Given the description of an element on the screen output the (x, y) to click on. 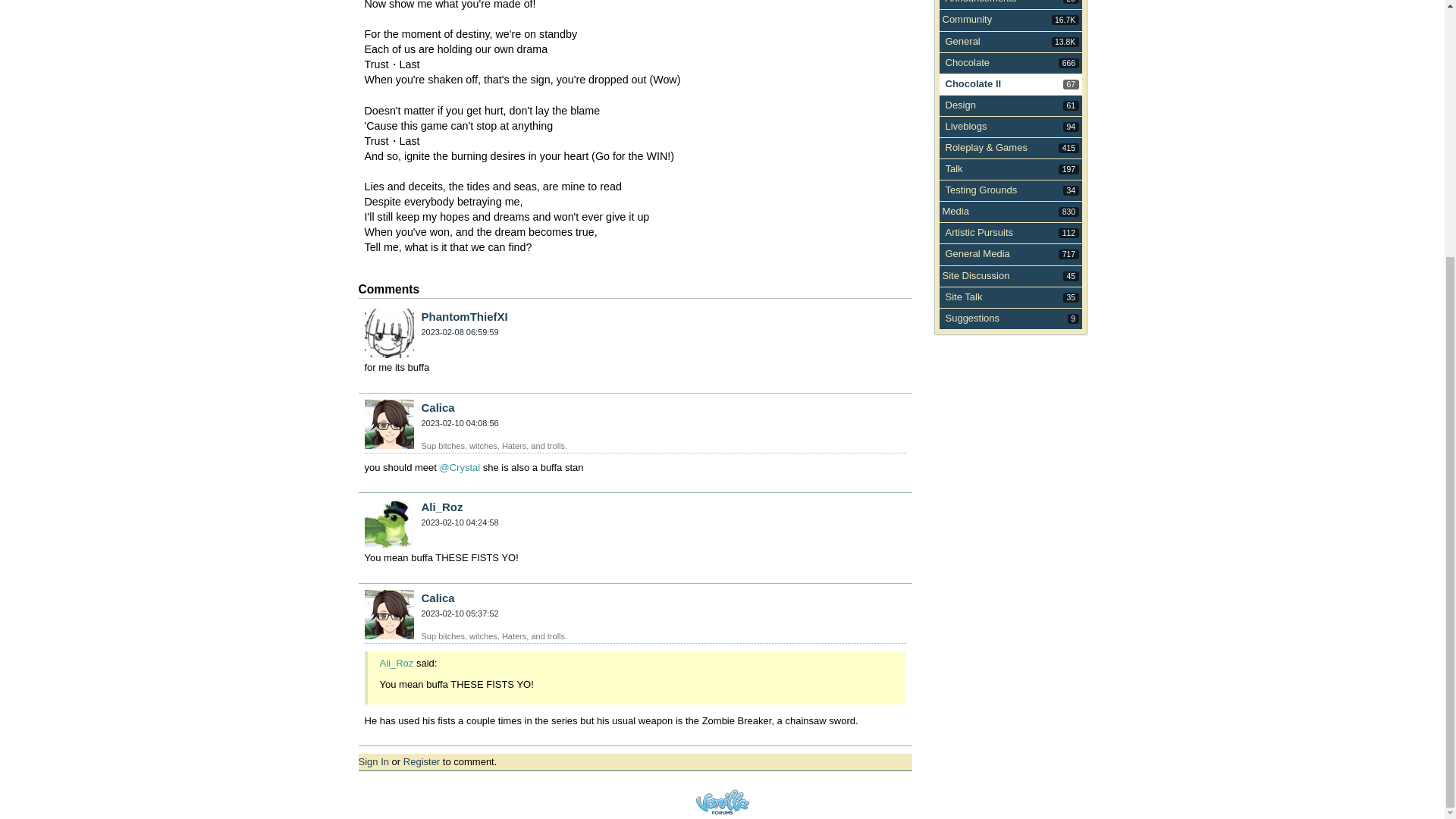
415 discussions (1068, 148)
PhantomThiefXI (465, 316)
Calica (388, 614)
Register (421, 761)
666 discussions (1068, 62)
34 discussions (1071, 190)
2023-02-10 04:24:58 (961, 41)
197 discussions (460, 522)
Calica (1068, 169)
